Given the description of an element on the screen output the (x, y) to click on. 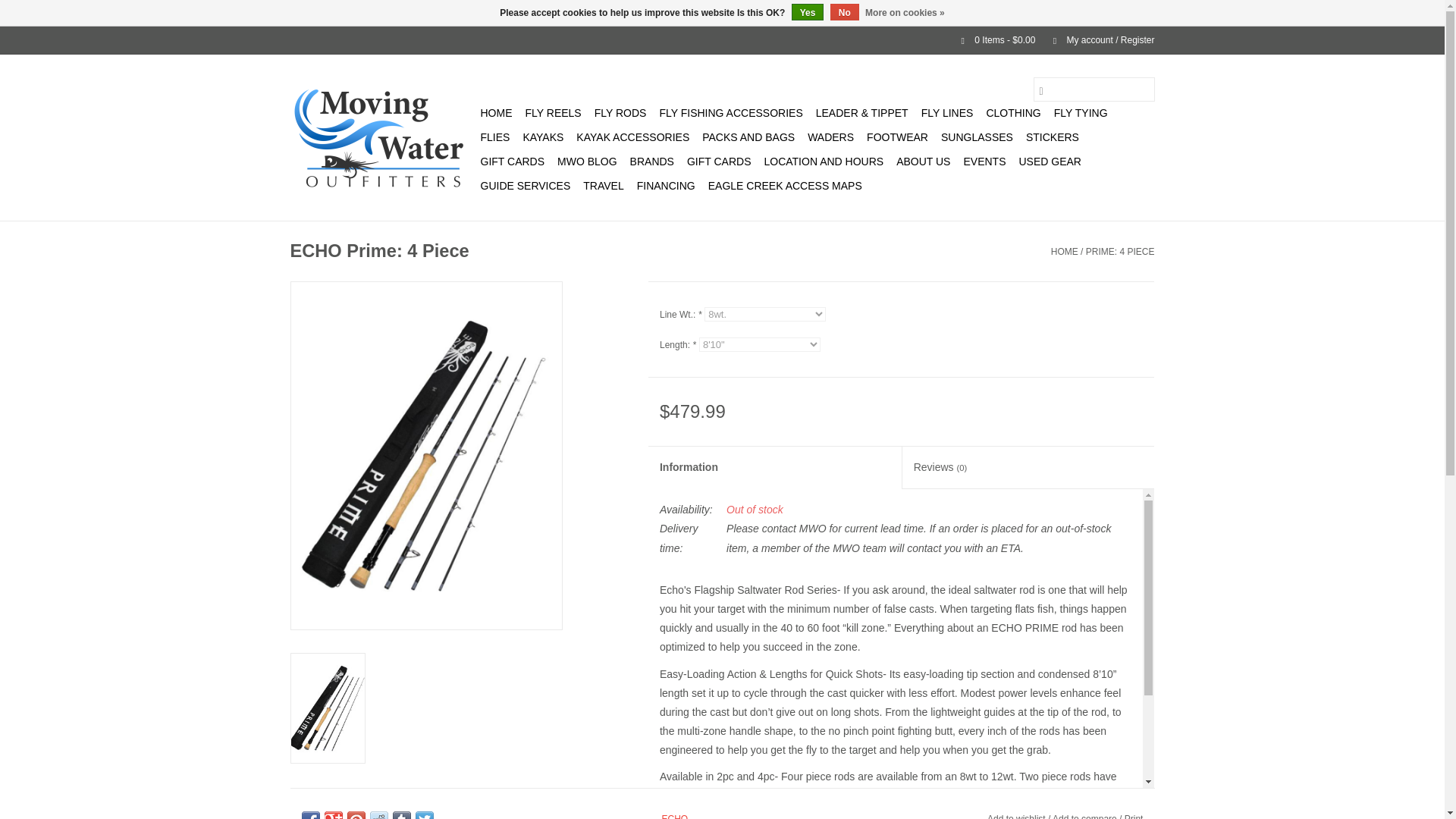
FLIES (495, 137)
FLY REELS (552, 112)
FLY TYING (1080, 112)
CLOTHING (1013, 112)
FLY LINES (947, 112)
Fly Reels (552, 112)
Cart (992, 40)
FLY FISHING ACCESSORIES (729, 112)
Moving Water Outfitters - Home (382, 137)
HOME (496, 112)
FLY RODS (619, 112)
My account (1096, 40)
Search (1040, 88)
Fly Rods (619, 112)
